Given the description of an element on the screen output the (x, y) to click on. 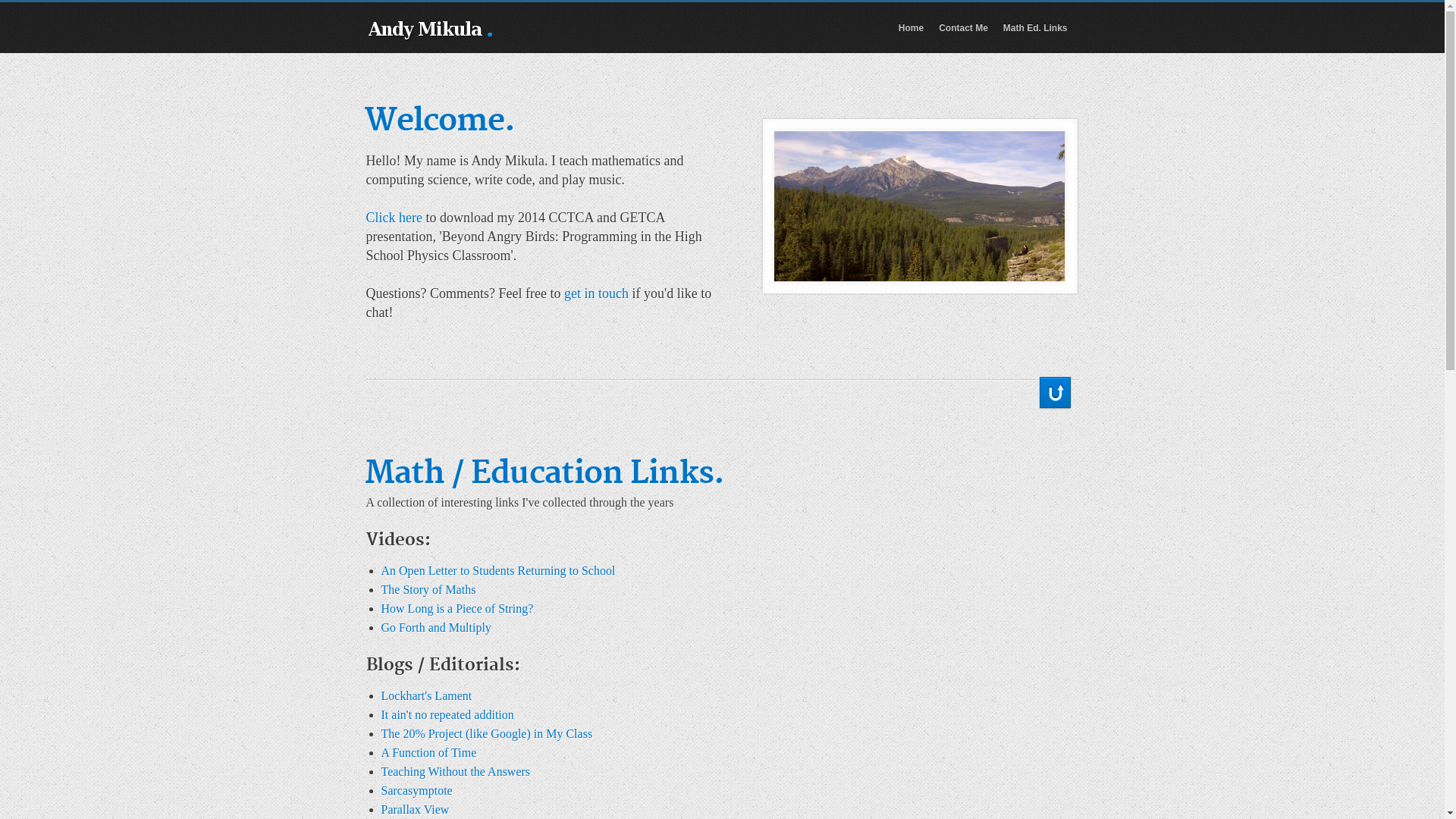
How Long is a Piece of String? Element type: text (456, 608)
Home Element type: text (910, 27)
The Story of Maths Element type: text (427, 589)
Parallax View Element type: text (414, 809)
Click here Element type: text (393, 217)
The 20% Project (like Google) in My Class Element type: text (486, 733)
Contact Me Element type: text (963, 27)
Math Ed. Links Element type: text (1035, 27)
An Open Letter to Students Returning to School Element type: text (497, 570)
get in touch Element type: text (596, 293)
Lockhart's Lament Element type: text (425, 695)
Andy Mikula - math. computers. etc. Element type: text (424, 30)
Go Forth and Multiply Element type: text (435, 627)
Teaching Without the Answers Element type: text (455, 771)
It ain't no repeated addition Element type: text (446, 714)
Sarcasymptote Element type: text (415, 790)
Back to Top Element type: text (1054, 392)
A Function of Time Element type: text (428, 752)
